Given the description of an element on the screen output the (x, y) to click on. 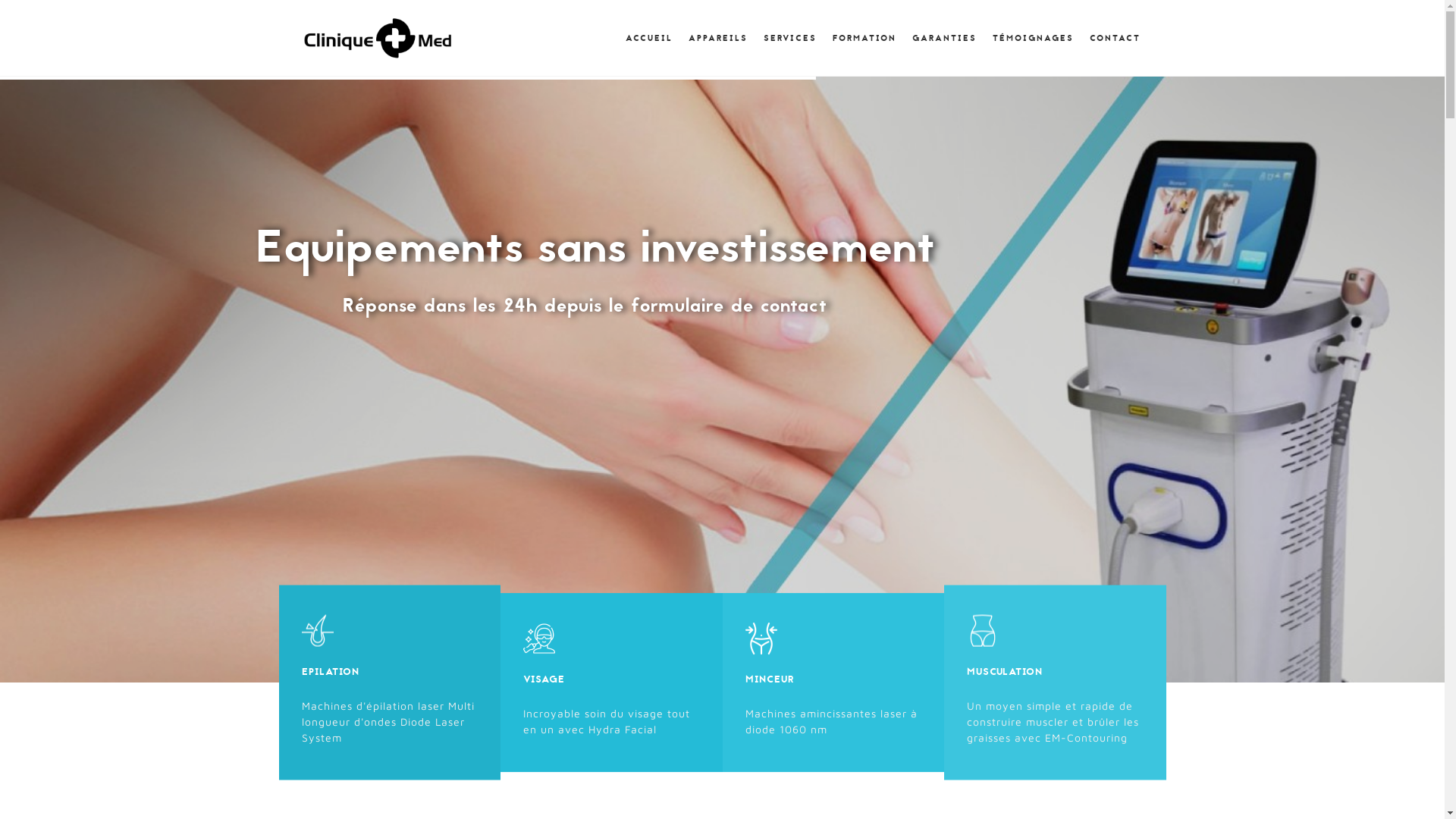
ACCUEIL Element type: text (647, 37)
GARANTIES Element type: text (942, 37)
CONTACT Element type: text (1113, 37)
APPAREILS Element type: text (715, 37)
SERVICES Element type: text (788, 37)
FORMATION Element type: text (862, 37)
